Given the description of an element on the screen output the (x, y) to click on. 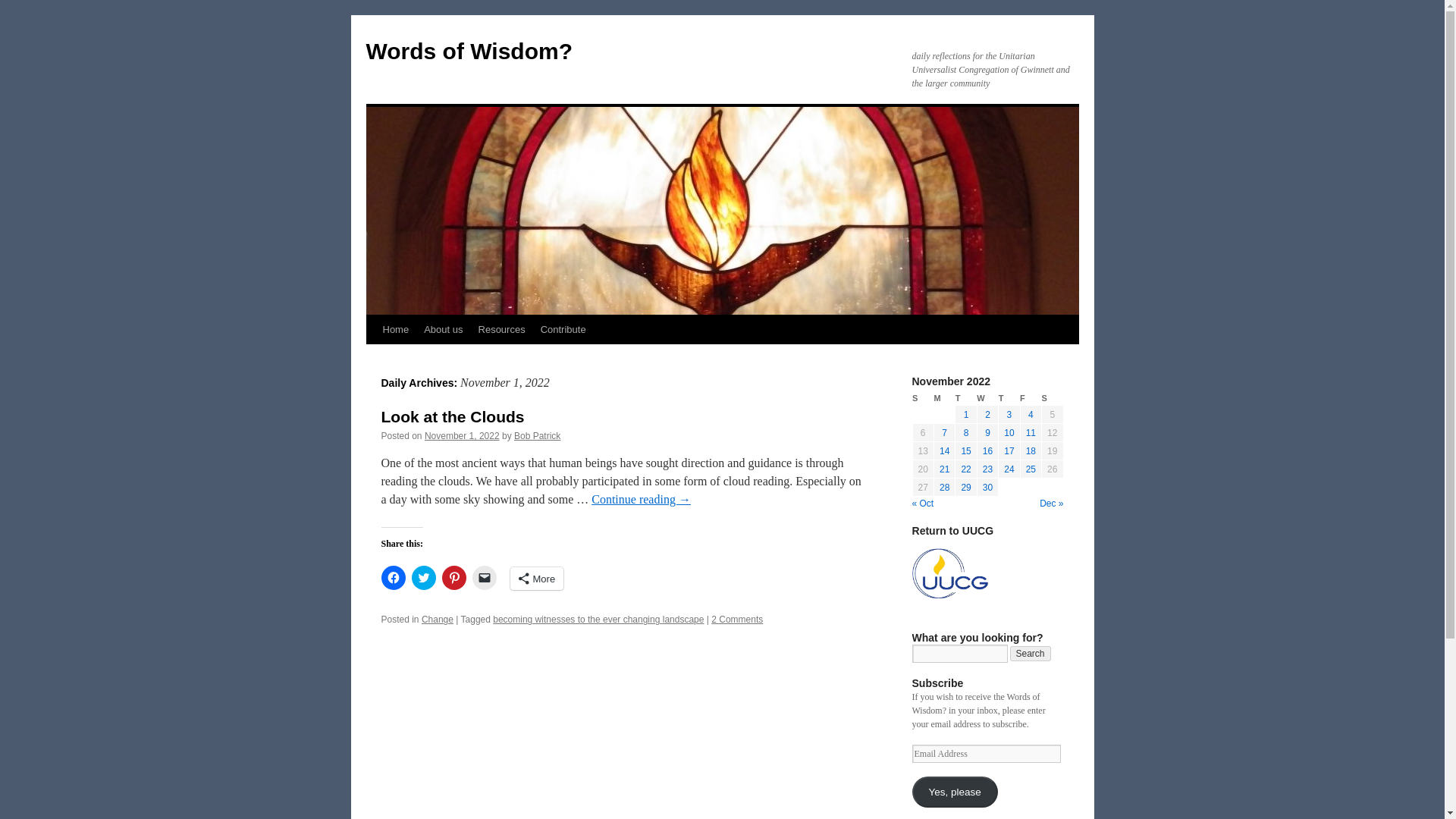
18 (1030, 450)
Click to email a link to a friend (483, 577)
6:09 am (462, 435)
15 (965, 450)
Monday (944, 398)
Tuesday (965, 398)
22 (965, 469)
21 (944, 469)
16 (987, 450)
Friday (1030, 398)
